Given the description of an element on the screen output the (x, y) to click on. 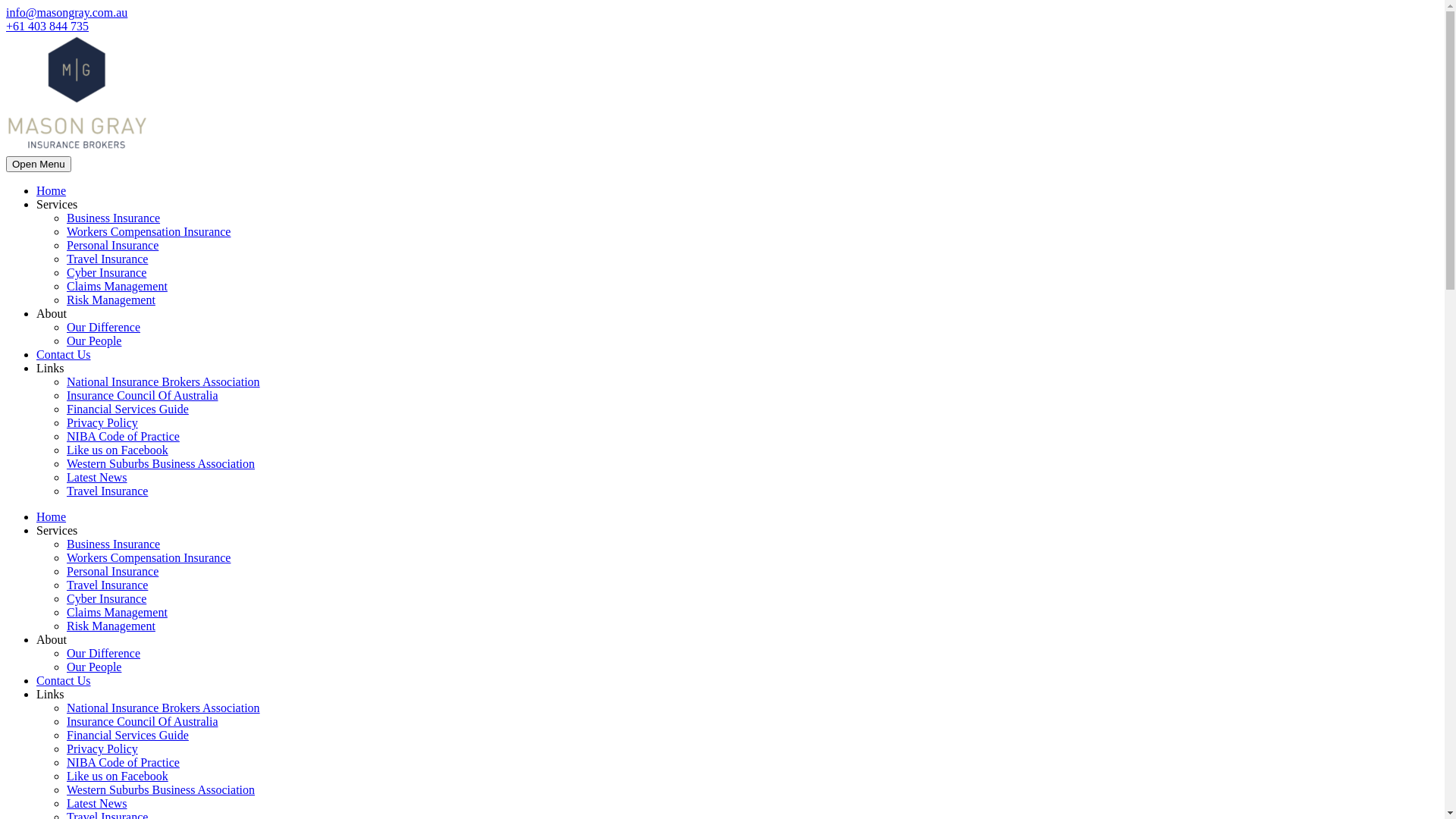
Cyber Insurance Element type: text (106, 598)
Latest News Element type: text (96, 476)
Our Difference Element type: text (103, 652)
Claims Management Element type: text (116, 285)
Financial Services Guide Element type: text (127, 734)
Like us on Facebook Element type: text (117, 775)
Like us on Facebook Element type: text (117, 449)
info@masongray.com.au Element type: text (66, 12)
Workers Compensation Insurance Element type: text (148, 231)
Privacy Policy Element type: text (102, 422)
Home Element type: text (50, 516)
Western Suburbs Business Association Element type: text (160, 463)
Travel Insurance Element type: text (106, 490)
Personal Insurance Element type: text (112, 570)
National Insurance Brokers Association Element type: text (163, 707)
Risk Management Element type: text (110, 625)
Western Suburbs Business Association Element type: text (160, 789)
Privacy Policy Element type: text (102, 748)
Links Element type: text (49, 367)
Travel Insurance Element type: text (106, 258)
NIBA Code of Practice Element type: text (122, 435)
About Element type: text (51, 639)
Risk Management Element type: text (110, 299)
Contact Us Element type: text (63, 354)
Our People Element type: text (93, 340)
Our Difference Element type: text (103, 326)
Cyber Insurance Element type: text (106, 272)
Business Insurance Element type: text (113, 543)
Insurance Council Of Australia Element type: text (142, 395)
Services Element type: text (56, 203)
Links Element type: text (49, 693)
Our People Element type: text (93, 666)
+61 403 844 735 Element type: text (47, 25)
Insurance Council Of Australia Element type: text (142, 721)
Workers Compensation Insurance Element type: text (148, 557)
Travel Insurance Element type: text (106, 584)
NIBA Code of Practice Element type: text (122, 762)
Latest News Element type: text (96, 803)
Home Element type: text (50, 190)
Open Menu Element type: text (38, 164)
Business Insurance Element type: text (113, 217)
About Element type: text (51, 313)
Claims Management Element type: text (116, 611)
Personal Insurance Element type: text (112, 244)
Services Element type: text (56, 530)
Financial Services Guide Element type: text (127, 408)
National Insurance Brokers Association Element type: text (163, 381)
Contact Us Element type: text (63, 680)
